Given the description of an element on the screen output the (x, y) to click on. 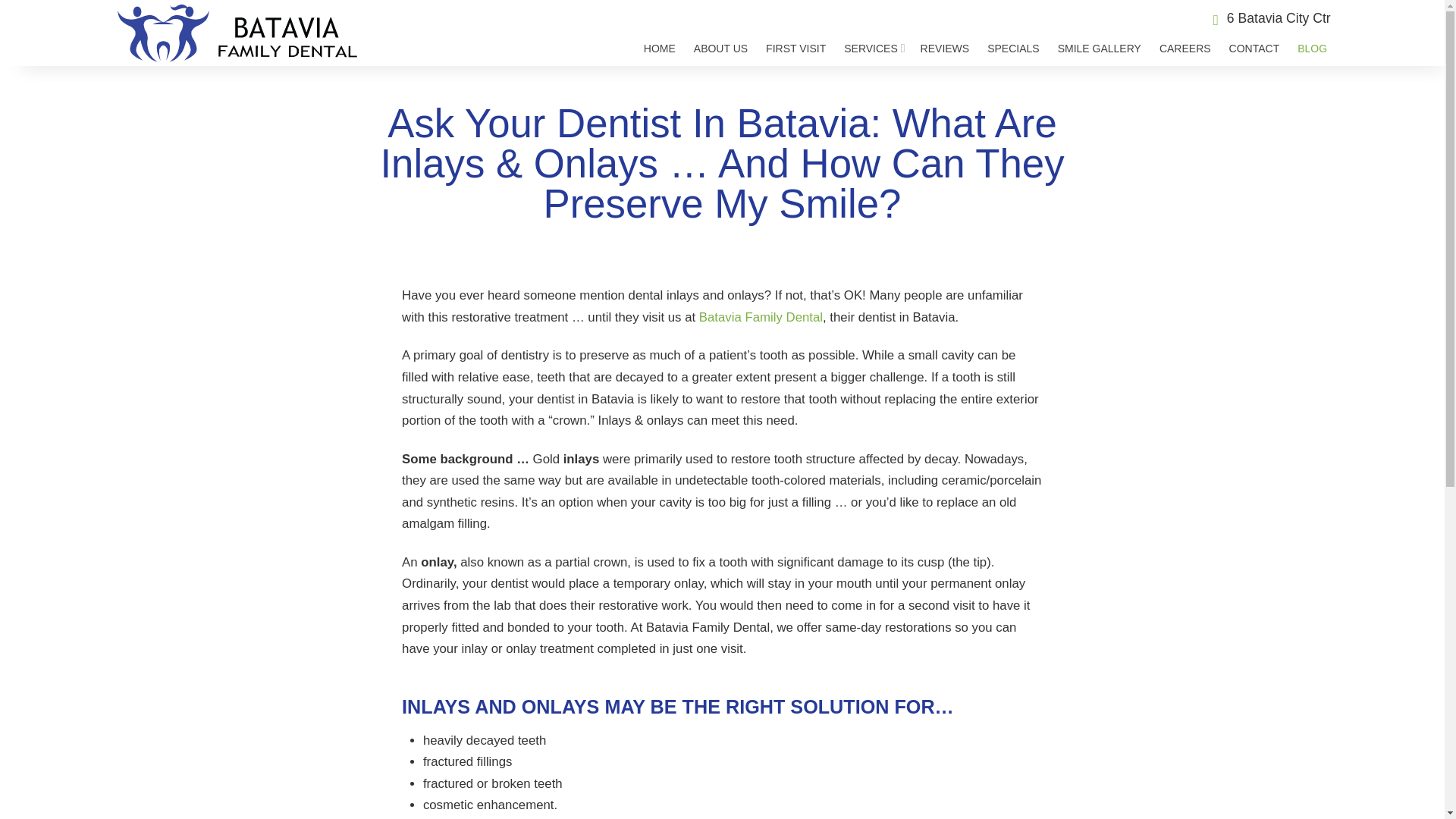
HOME (659, 48)
CAREERS (1185, 48)
Batavia Family Dental (760, 317)
BLOG (1312, 48)
CONTACT (1254, 48)
ABOUT US (720, 48)
FIRST VISIT (795, 48)
REVIEWS (944, 48)
SMILE GALLERY (1099, 48)
SERVICES (872, 48)
